Given the description of an element on the screen output the (x, y) to click on. 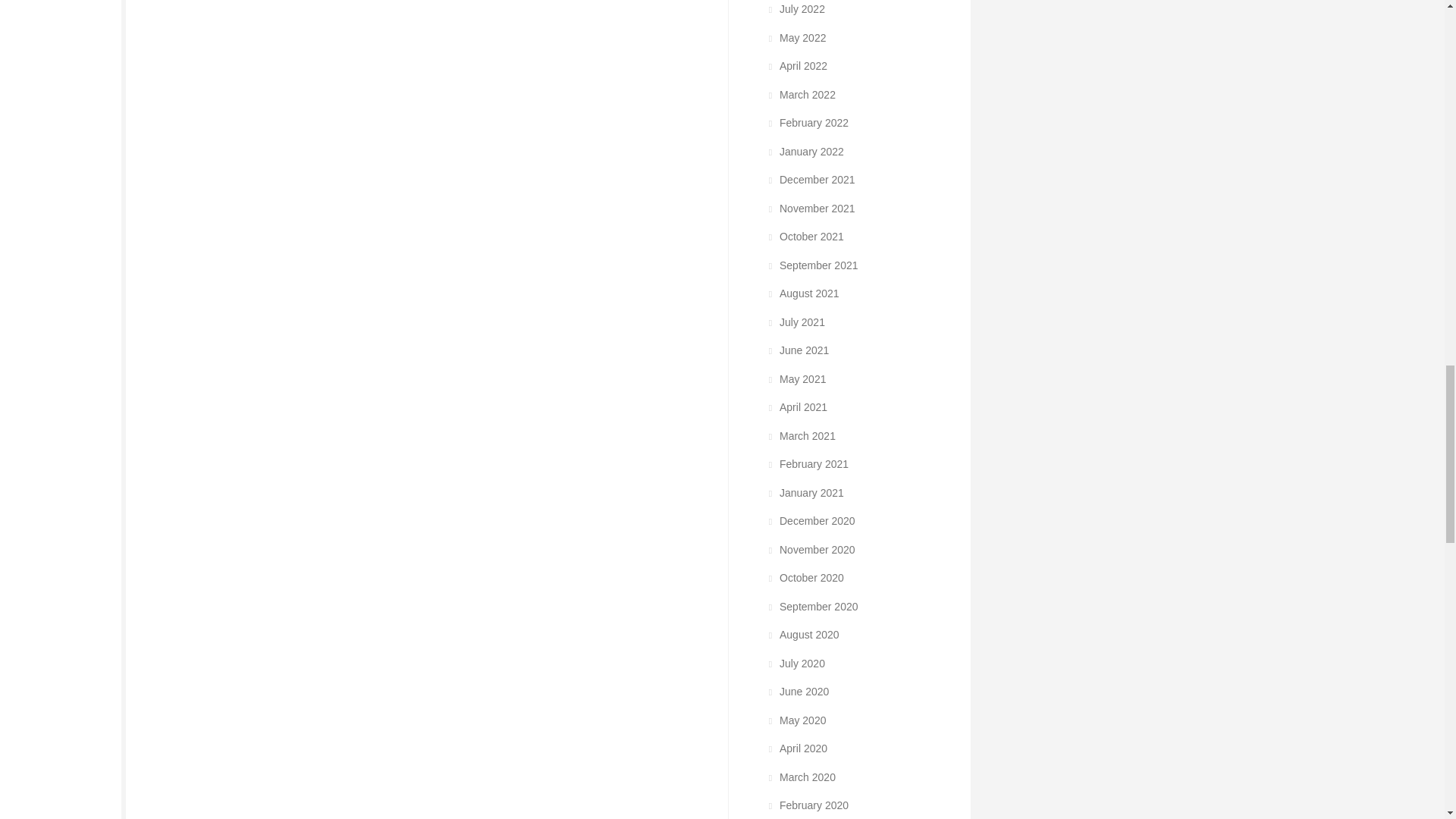
July 2022 (795, 9)
